Given the description of an element on the screen output the (x, y) to click on. 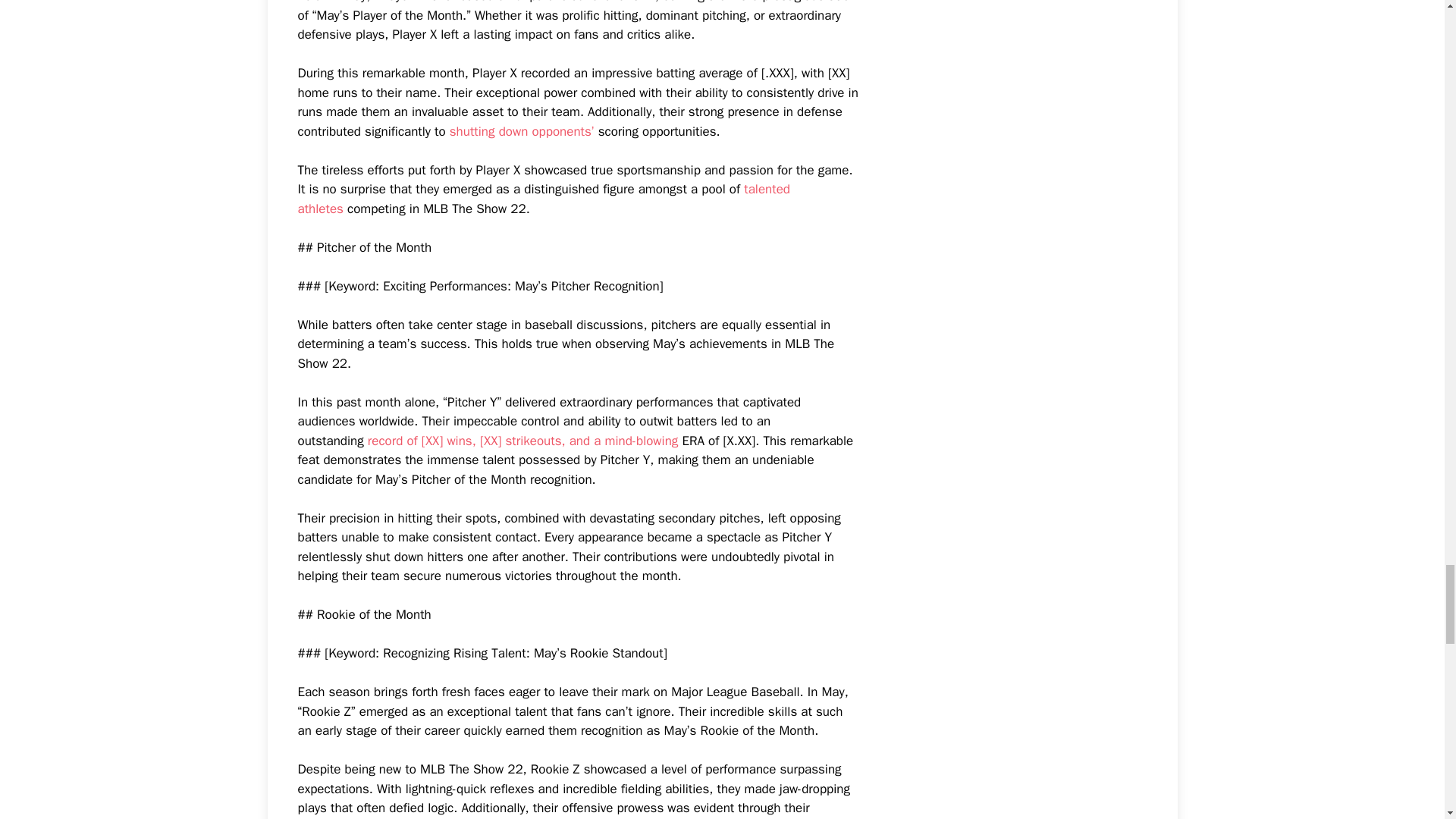
talented athletes (543, 198)
